Given the description of an element on the screen output the (x, y) to click on. 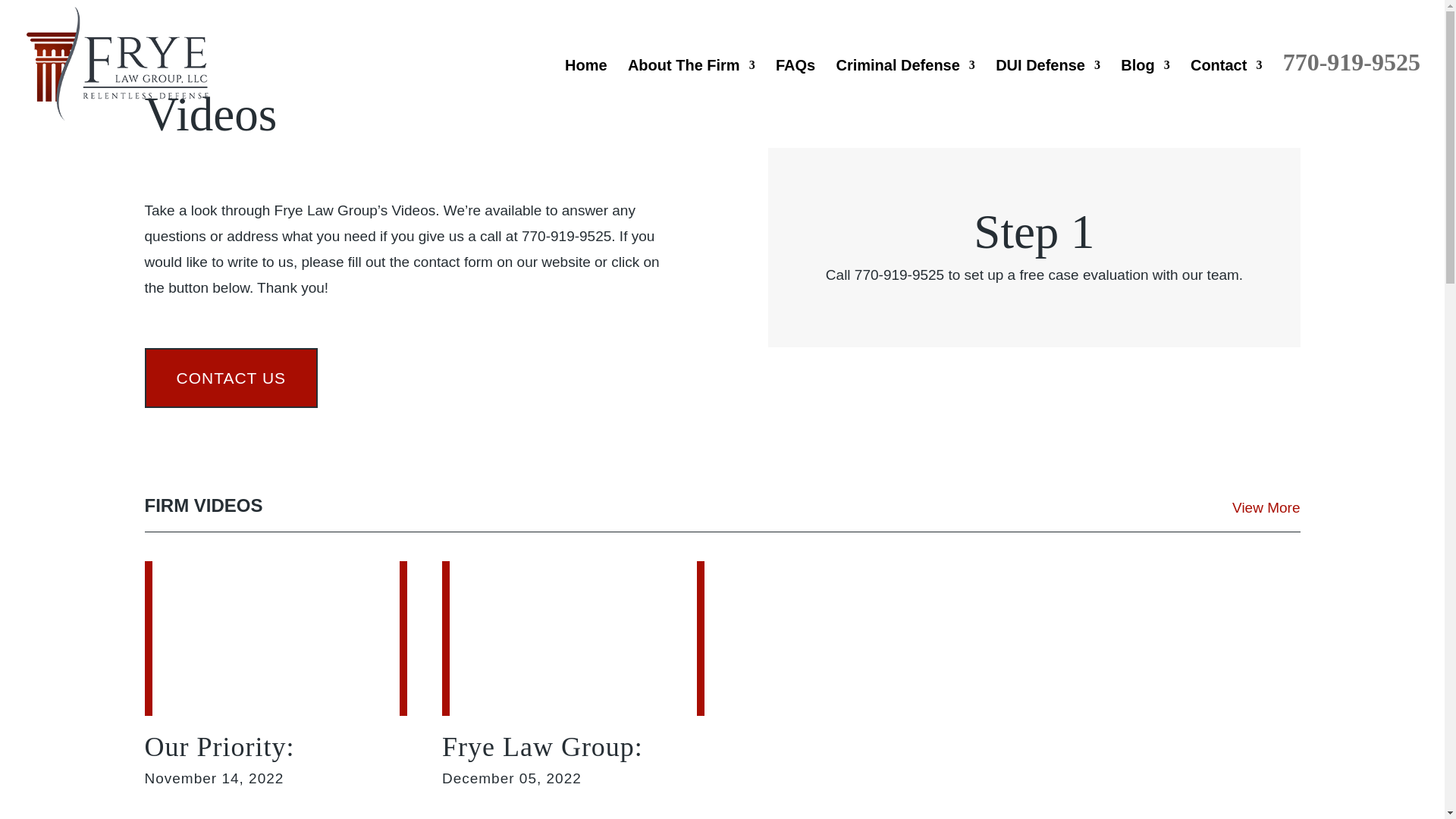
Contact (1226, 93)
DUI Defense (1047, 93)
770-919-9525 (1351, 90)
About The Firm (691, 93)
CONTACT US (230, 378)
View More (1265, 506)
Criminal Defense (904, 93)
Firm Videos (1265, 506)
